Given the description of an element on the screen output the (x, y) to click on. 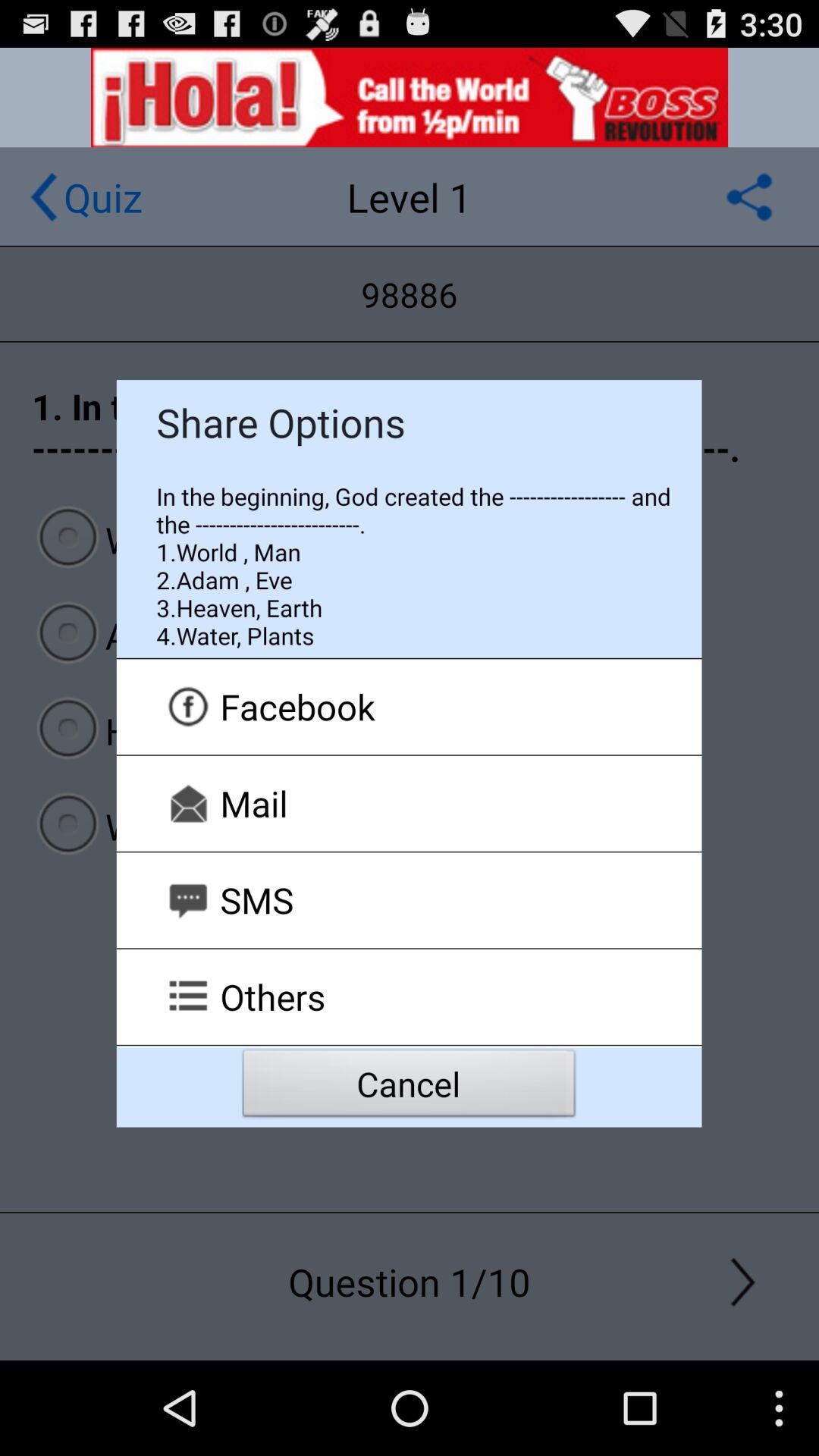
share the page (749, 196)
